Given the description of an element on the screen output the (x, y) to click on. 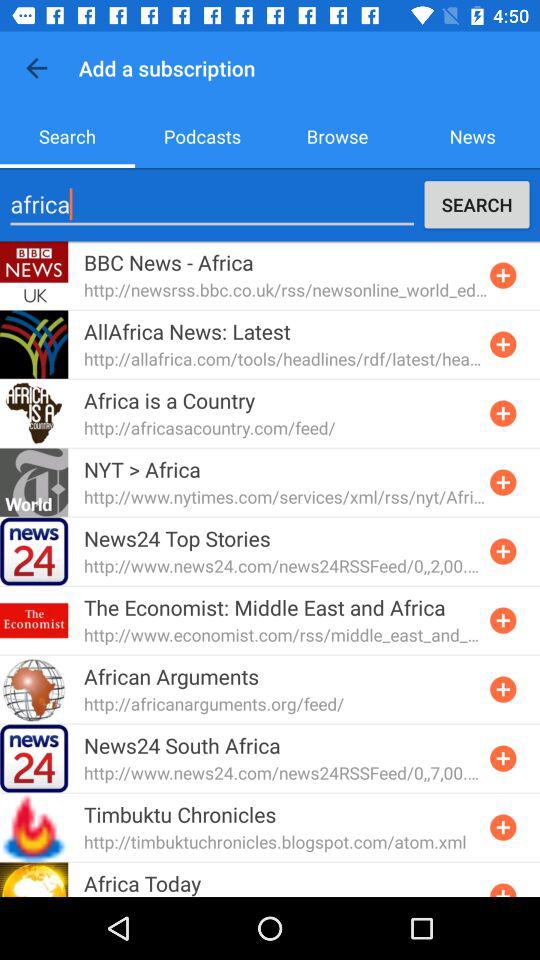
add subscription (503, 827)
